Given the description of an element on the screen output the (x, y) to click on. 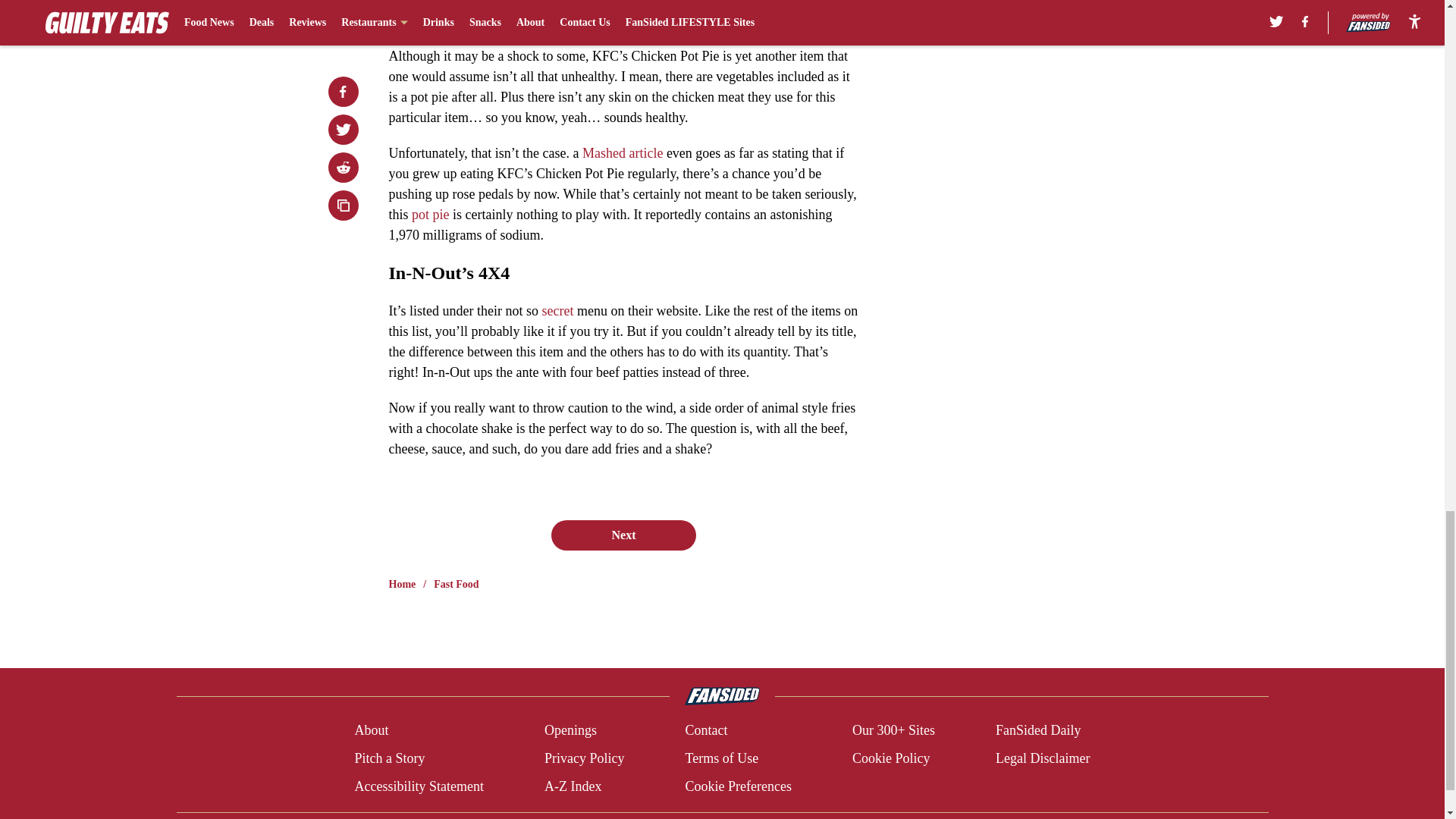
About (370, 730)
pot pie (430, 214)
secret (557, 310)
Fast Food (456, 584)
Pitch a Story (389, 758)
Next (622, 535)
FanSided Daily (1038, 730)
Contact (705, 730)
Home (401, 584)
Openings (570, 730)
